Given the description of an element on the screen output the (x, y) to click on. 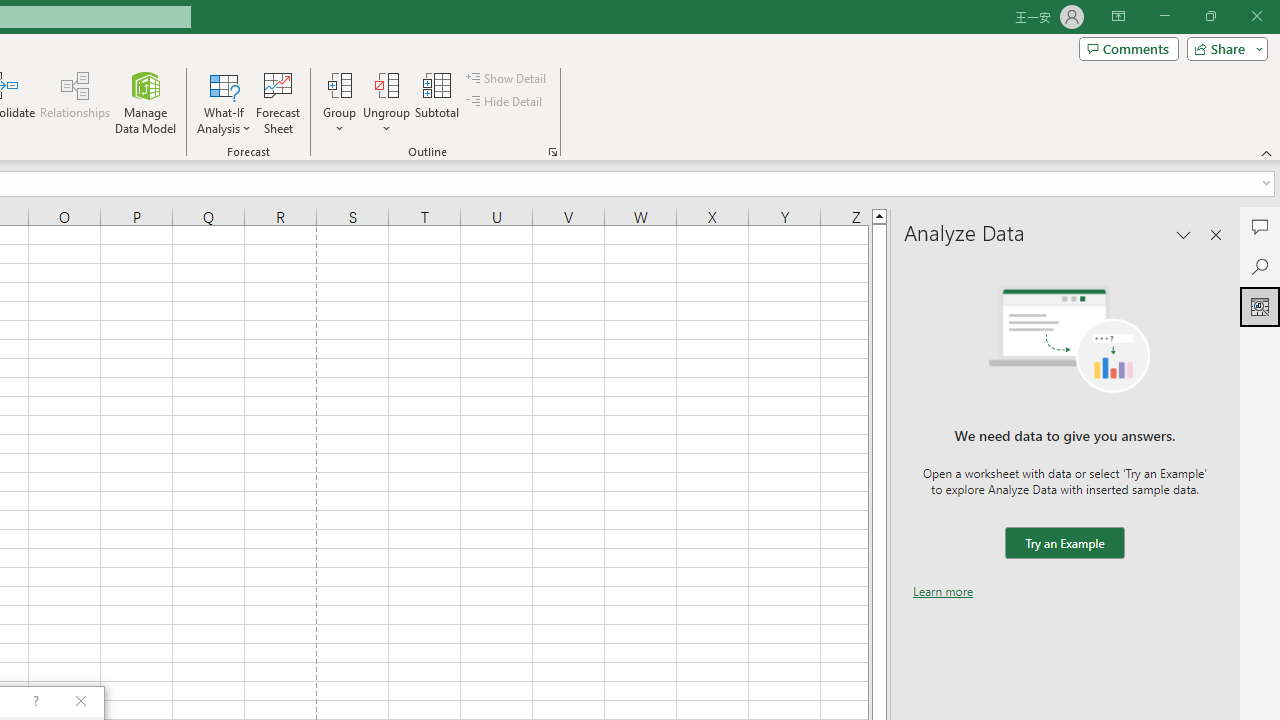
Search (1260, 266)
Group... (339, 84)
Ungroup... (386, 84)
Analyze Data (1260, 306)
Manage Data Model (145, 102)
Learn more (943, 591)
Restore Down (1210, 16)
What-If Analysis (223, 102)
Subtotal (437, 102)
Group... (339, 102)
Forecast Sheet (278, 102)
